Given the description of an element on the screen output the (x, y) to click on. 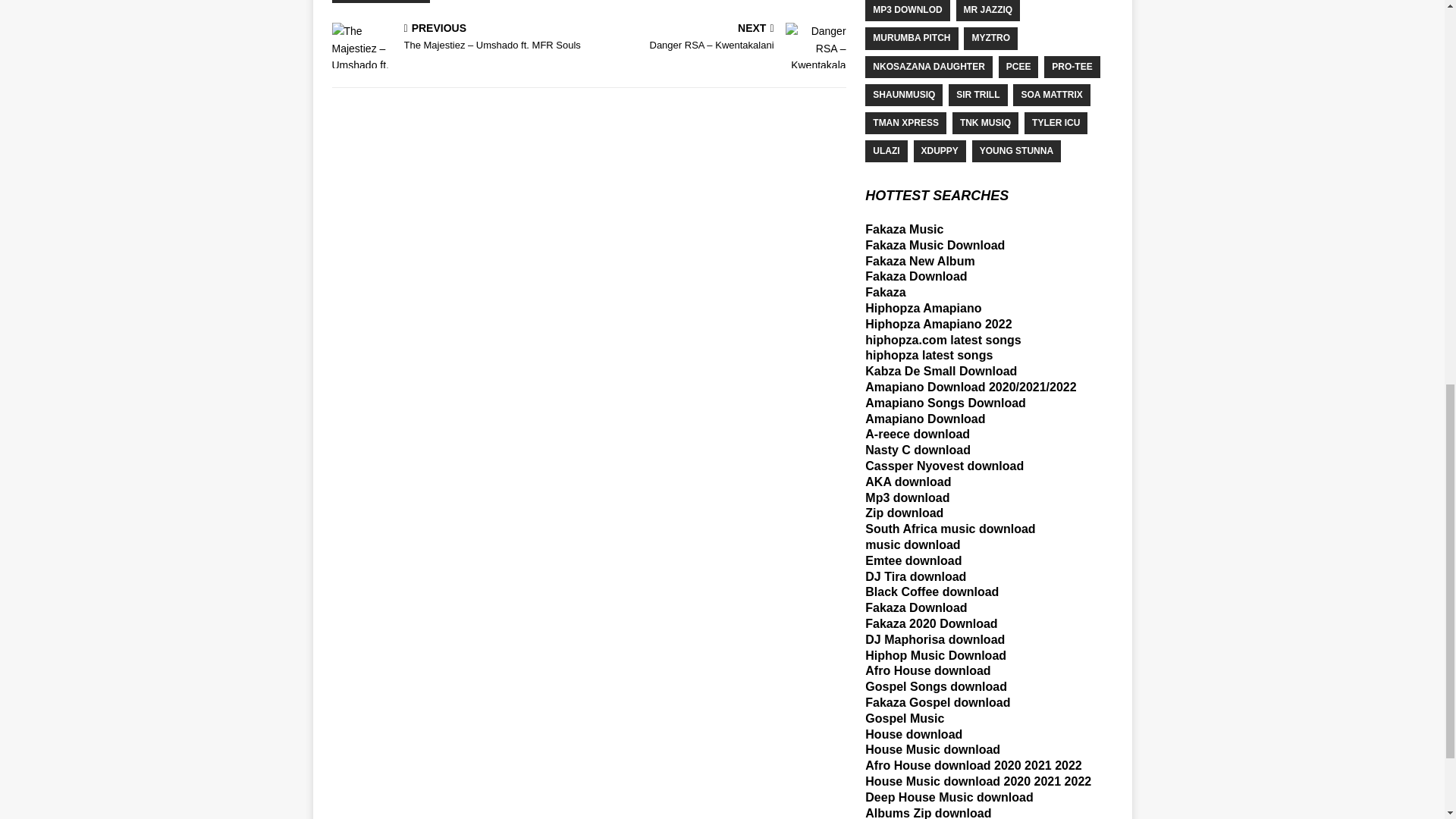
THE COOL GUYS (380, 1)
